Given the description of an element on the screen output the (x, y) to click on. 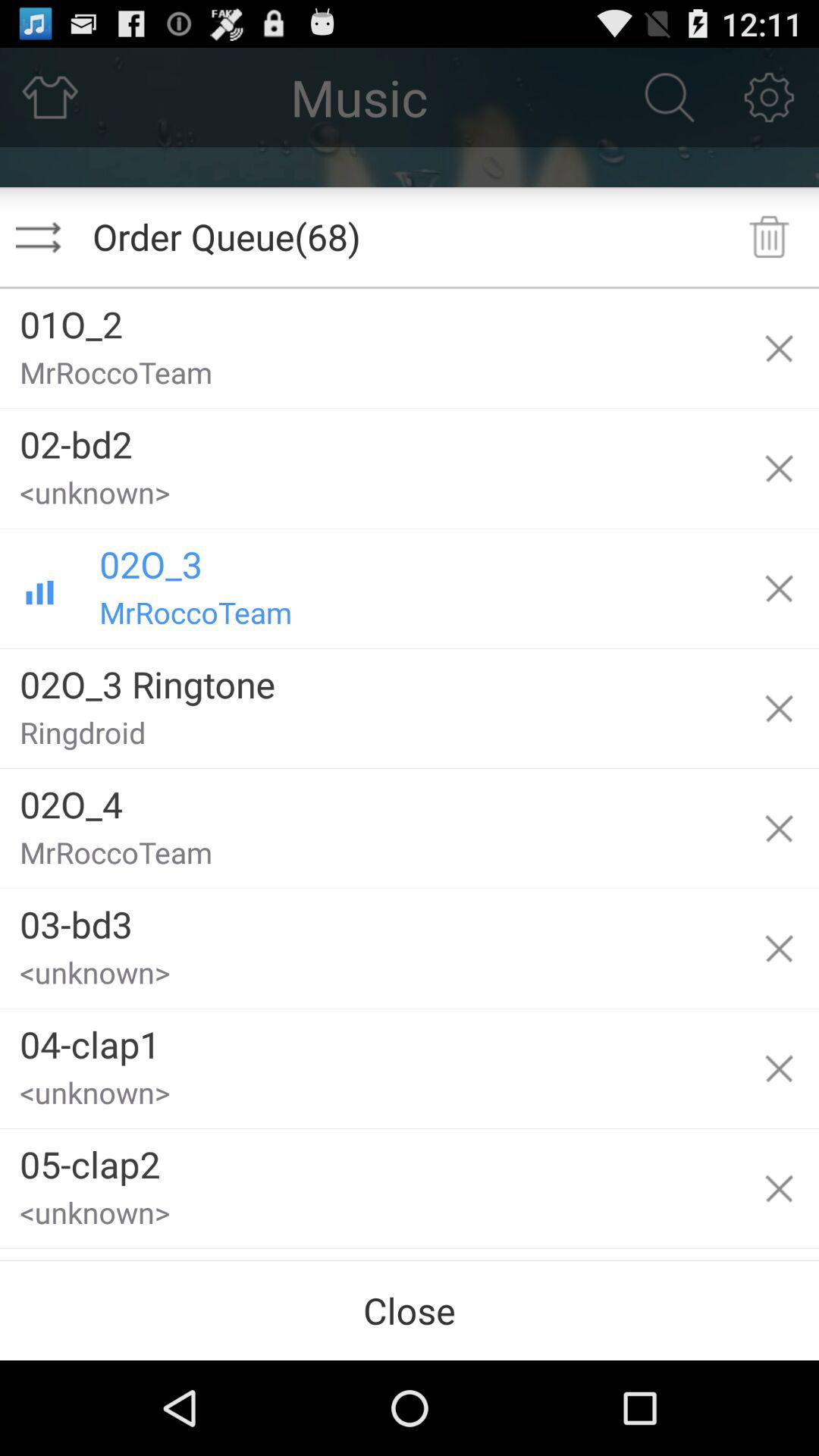
turn off 01o_2 app (369, 318)
